Given the description of an element on the screen output the (x, y) to click on. 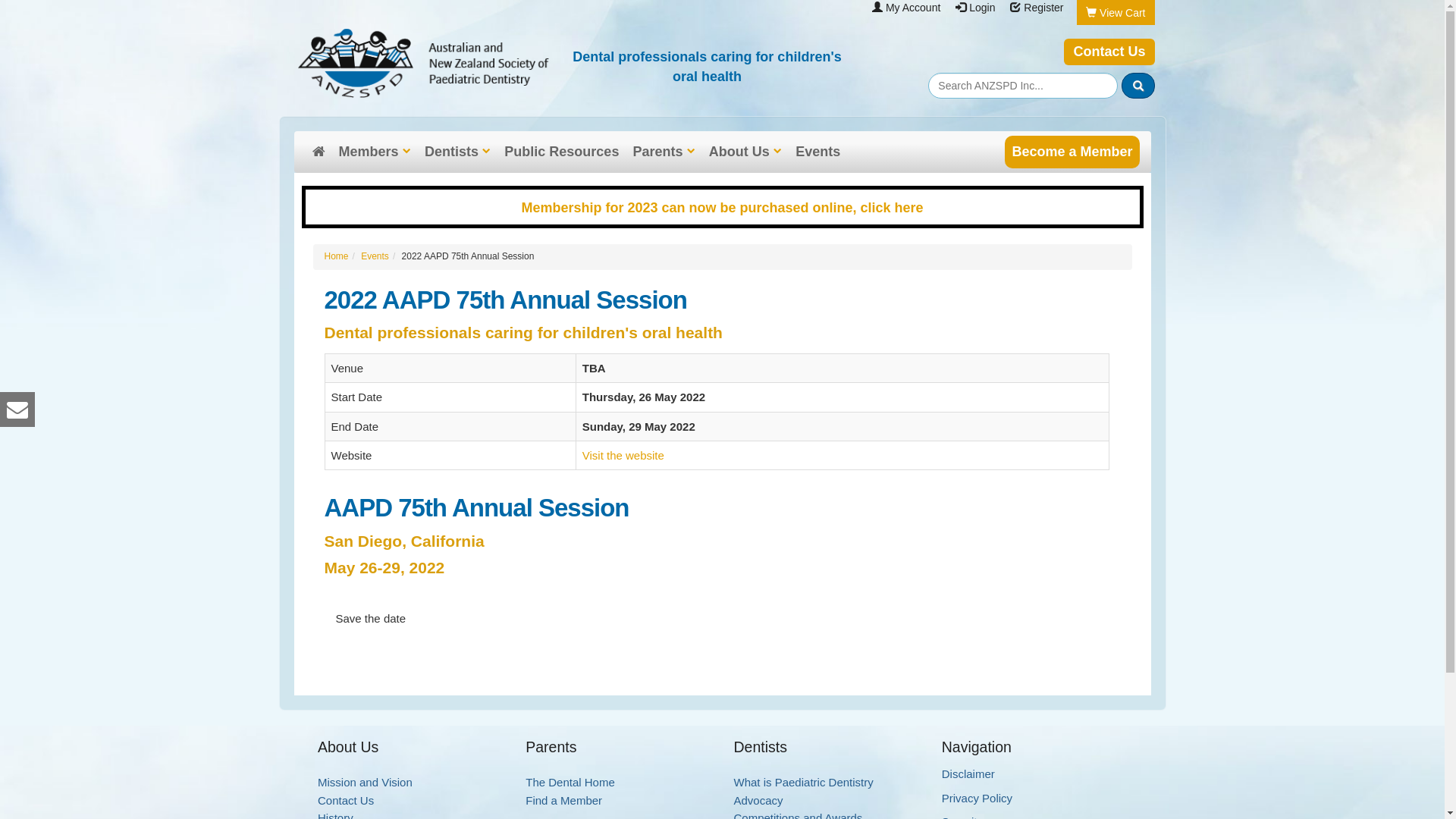
Search Site Element type: hover (1137, 85)
Become a Member Element type: text (1071, 151)
Membership for 2023 can now be purchased online, click here Element type: text (721, 207)
ANZSPD Inc Email Us Element type: hover (17, 409)
Register Element type: text (1043, 7)
Events Element type: text (374, 256)
Advocacy Element type: text (758, 799)
Dentists Element type: text (457, 151)
Home Element type: text (336, 256)
Find a Member Element type: text (563, 799)
Search Element type: hover (1137, 85)
Contact Us Element type: text (1108, 51)
My Account Element type: text (912, 7)
ANZSPD Inc Element type: hover (422, 62)
Mission and Vision Element type: text (364, 781)
Events Element type: text (817, 151)
Contact Us Element type: text (345, 799)
Login Element type: text (981, 7)
Public Resources Element type: text (561, 151)
Disclaimer Element type: text (967, 773)
Parents Element type: text (663, 151)
Members Element type: text (374, 151)
What is Paediatric Dentistry Element type: text (803, 781)
About Us Element type: text (745, 151)
The Dental Home Element type: text (570, 781)
View Cart Element type: text (1122, 12)
Search Content Element type: hover (1022, 85)
Privacy Policy Element type: text (976, 797)
Visit the website Element type: text (623, 454)
submit Element type: text (1137, 85)
